Given the description of an element on the screen output the (x, y) to click on. 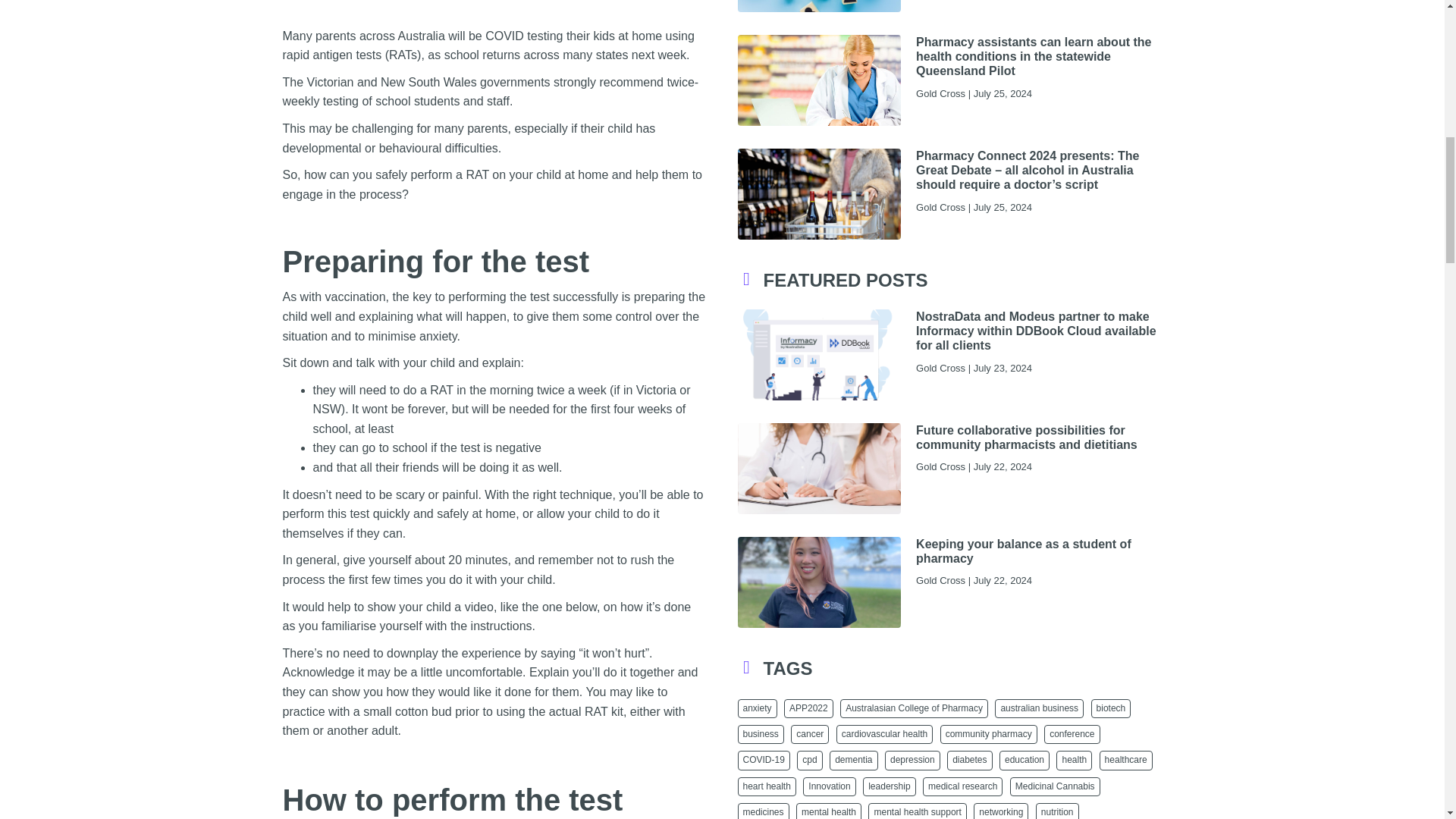
Keeping your balance as a student of pharmacy (1023, 551)
